Given the description of an element on the screen output the (x, y) to click on. 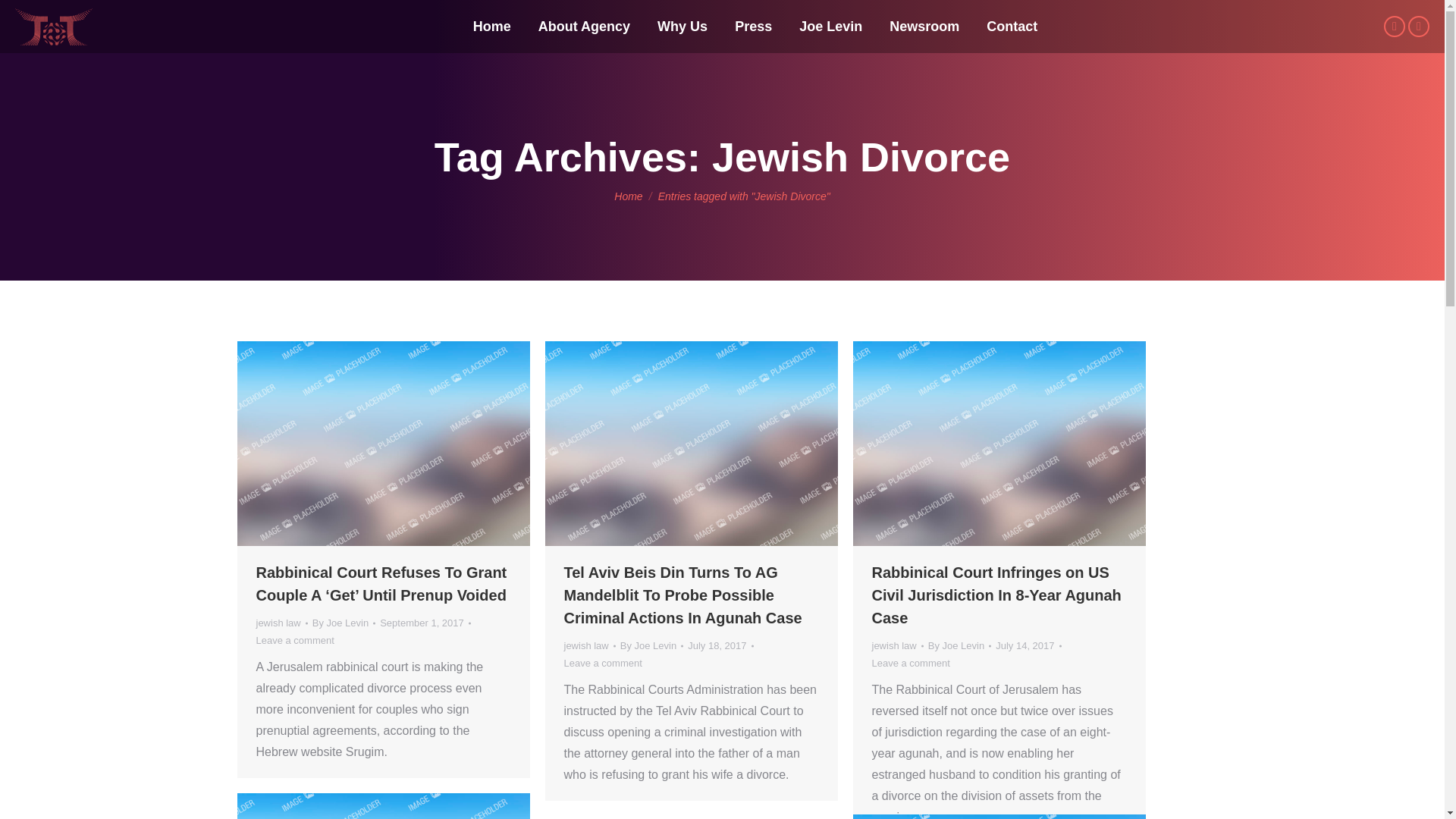
Leave a comment (603, 662)
jewish law (586, 645)
5:28 am (719, 645)
By Joe Levin (344, 622)
Linkedin page opens in new window (1418, 25)
Home (628, 195)
Why Us (681, 26)
Home (491, 26)
Linkedin page opens in new window (1418, 25)
Twitter page opens in new window (1394, 25)
Twitter page opens in new window (1394, 25)
September 1, 2017 (425, 622)
Joe Levin (830, 26)
8:17 am (425, 622)
